Given the description of an element on the screen output the (x, y) to click on. 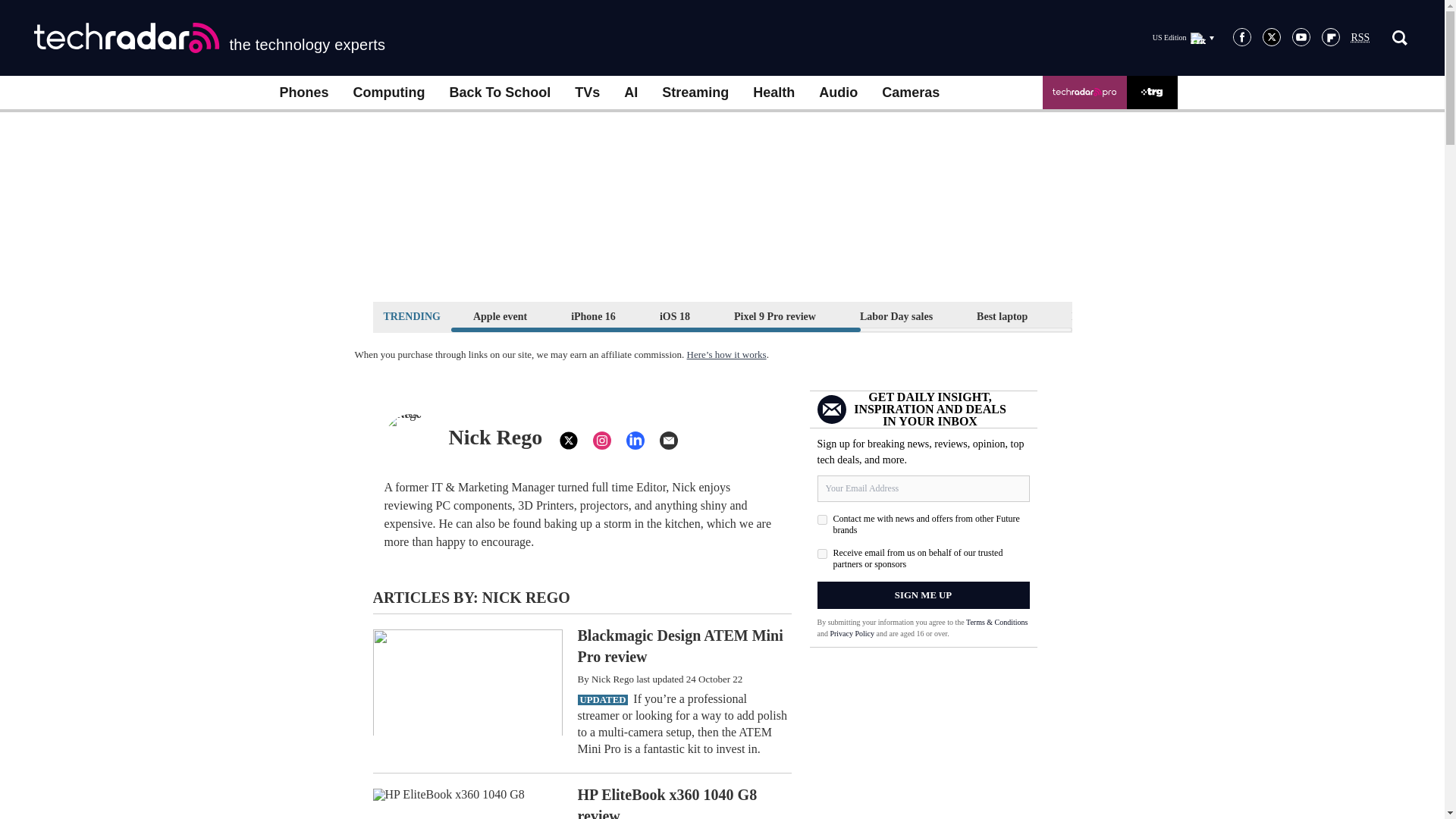
Computing (389, 92)
on (821, 519)
Cameras (910, 92)
US Edition (1182, 37)
Phones (303, 92)
Streaming (695, 92)
the technology experts (209, 38)
Back To School (499, 92)
on (821, 553)
Health (773, 92)
